Given the description of an element on the screen output the (x, y) to click on. 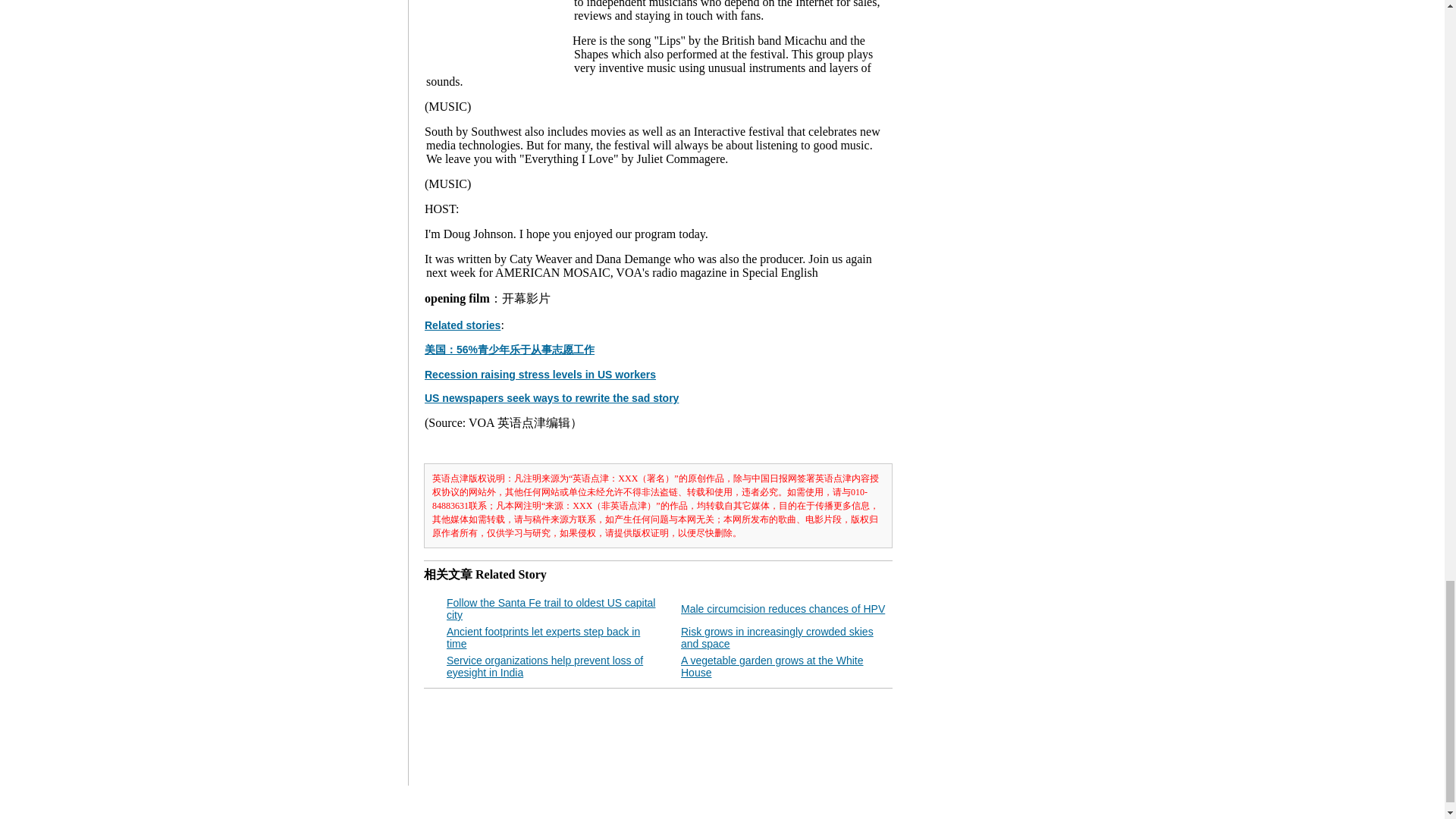
Ancient footprints let experts step back in time (543, 637)
A vegetable garden grows at the White House (772, 666)
US newspapers seek ways to rewrite the sad story (551, 398)
Follow the Santa Fe trail to oldest US capital city (550, 608)
Male circumcision reduces chances of HPV (783, 608)
Service organizations help prevent loss of eyesight in India (544, 666)
Recession raising stress levels in US workers (540, 374)
Related stories (462, 325)
Risk grows in increasingly crowded skies and space (777, 637)
